Given the description of an element on the screen output the (x, y) to click on. 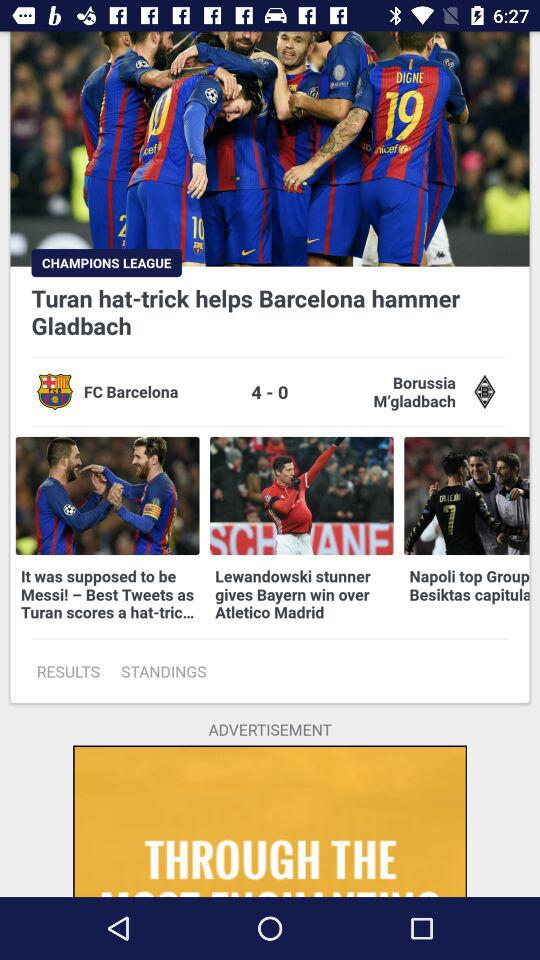
expand advertisement (269, 821)
